Given the description of an element on the screen output the (x, y) to click on. 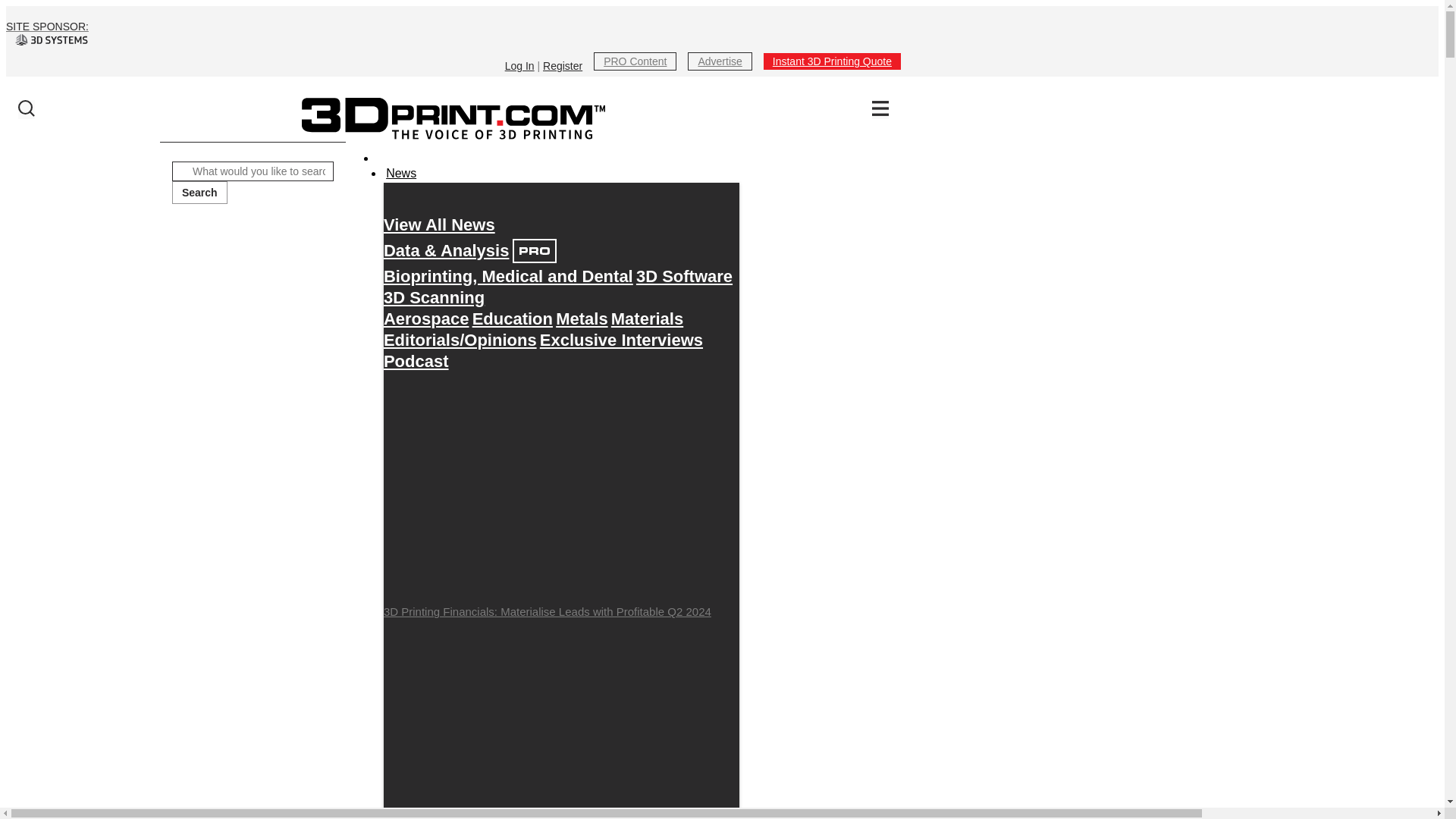
3D Software (684, 276)
Education (512, 318)
PRO Content (635, 60)
Bioprinting, Medical and Dental (508, 276)
Materials (646, 318)
Search (199, 191)
Podcast (416, 360)
SITE SPONSOR: (453, 32)
Advertise (719, 60)
Register (562, 65)
Metals (581, 318)
Instant 3D Printing Quote (831, 60)
Exclusive Interviews (621, 339)
